Given the description of an element on the screen output the (x, y) to click on. 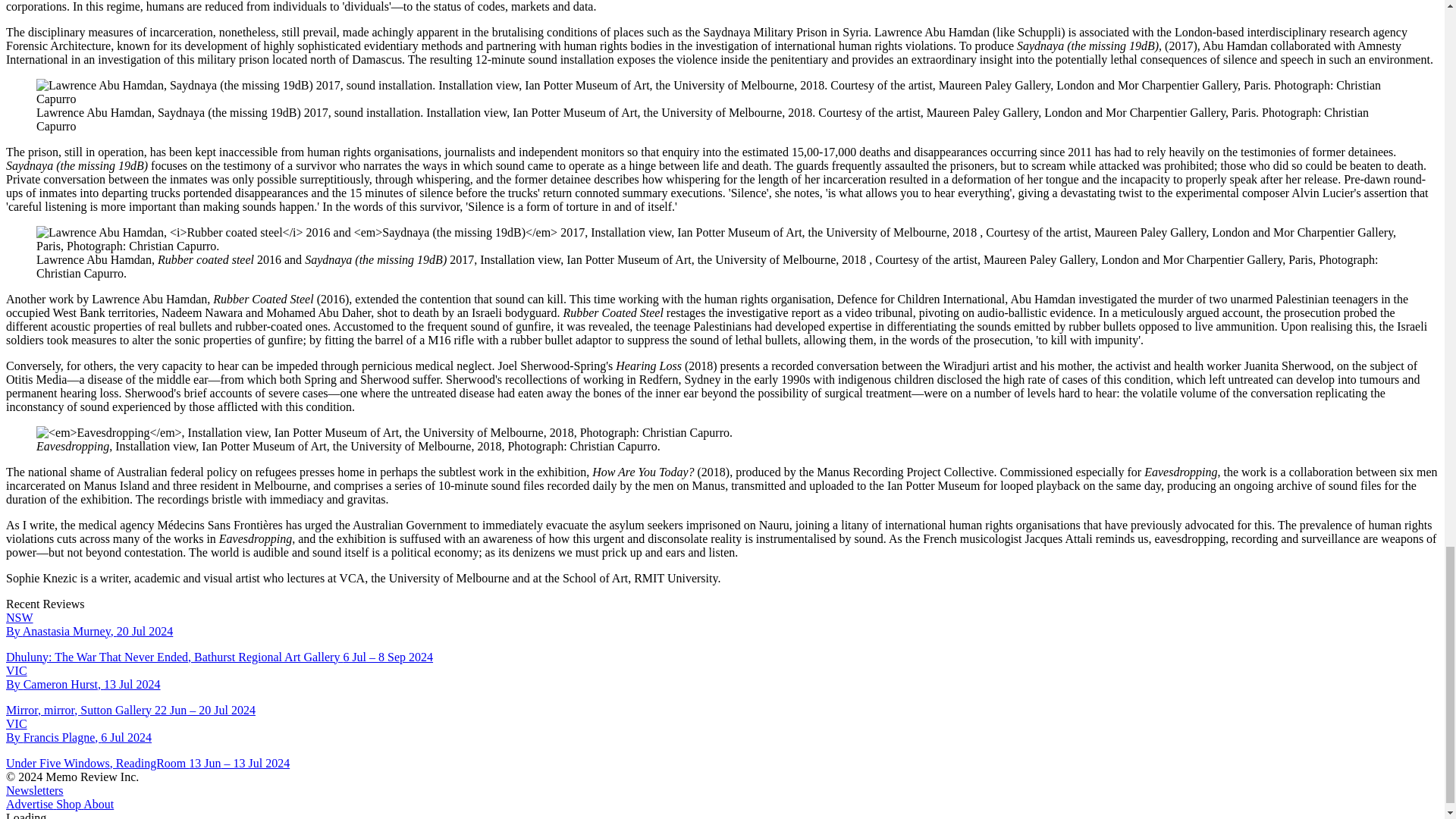
Newsletters (34, 789)
 About (97, 803)
Advertise (28, 803)
 Shop (66, 803)
